Given the description of an element on the screen output the (x, y) to click on. 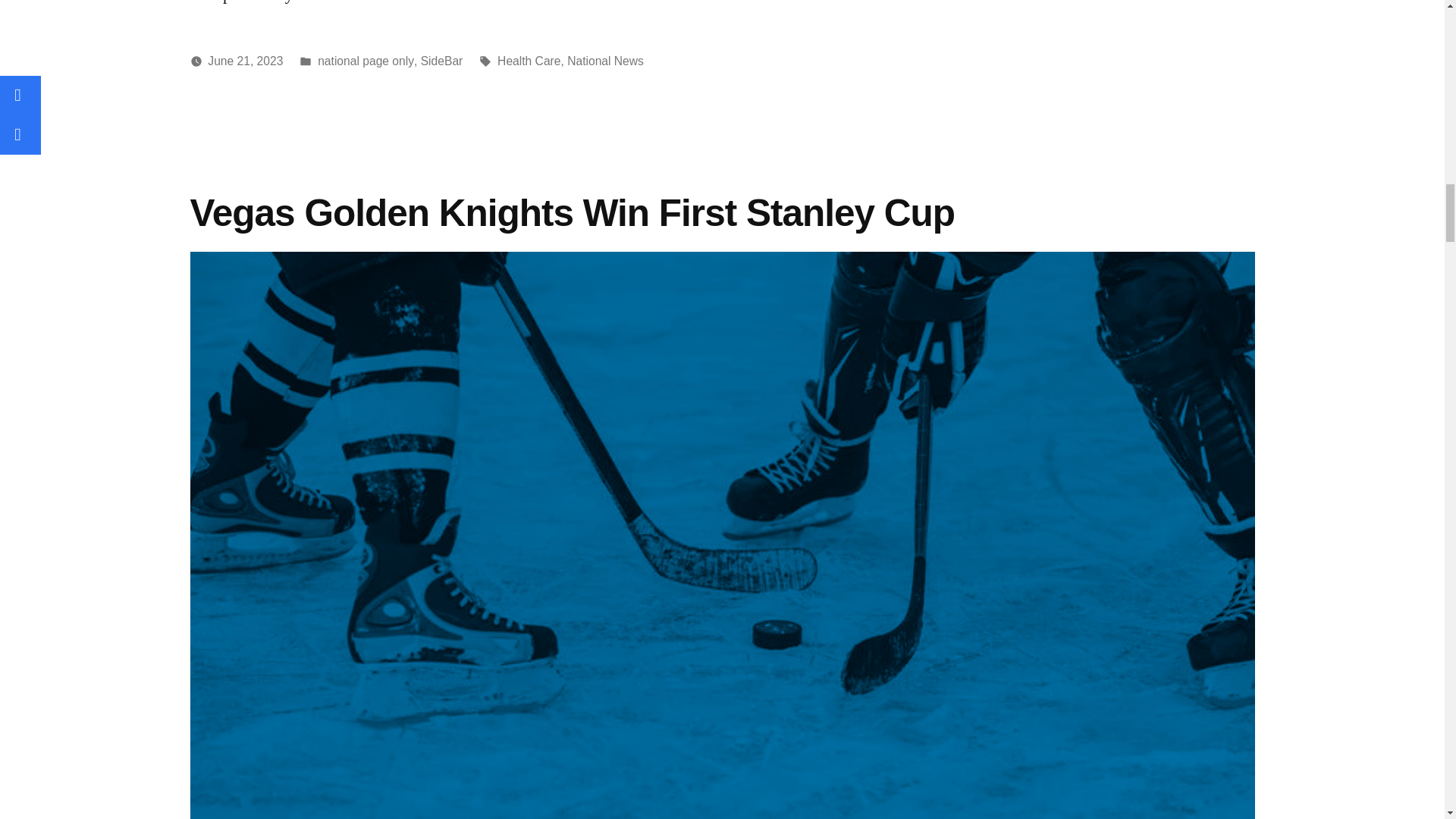
June 21, 2023 (245, 60)
national page only (365, 60)
National News (605, 60)
Vegas Golden Knights Win First Stanley Cup  (576, 212)
SideBar (441, 60)
Health Care (528, 60)
